Given the description of an element on the screen output the (x, y) to click on. 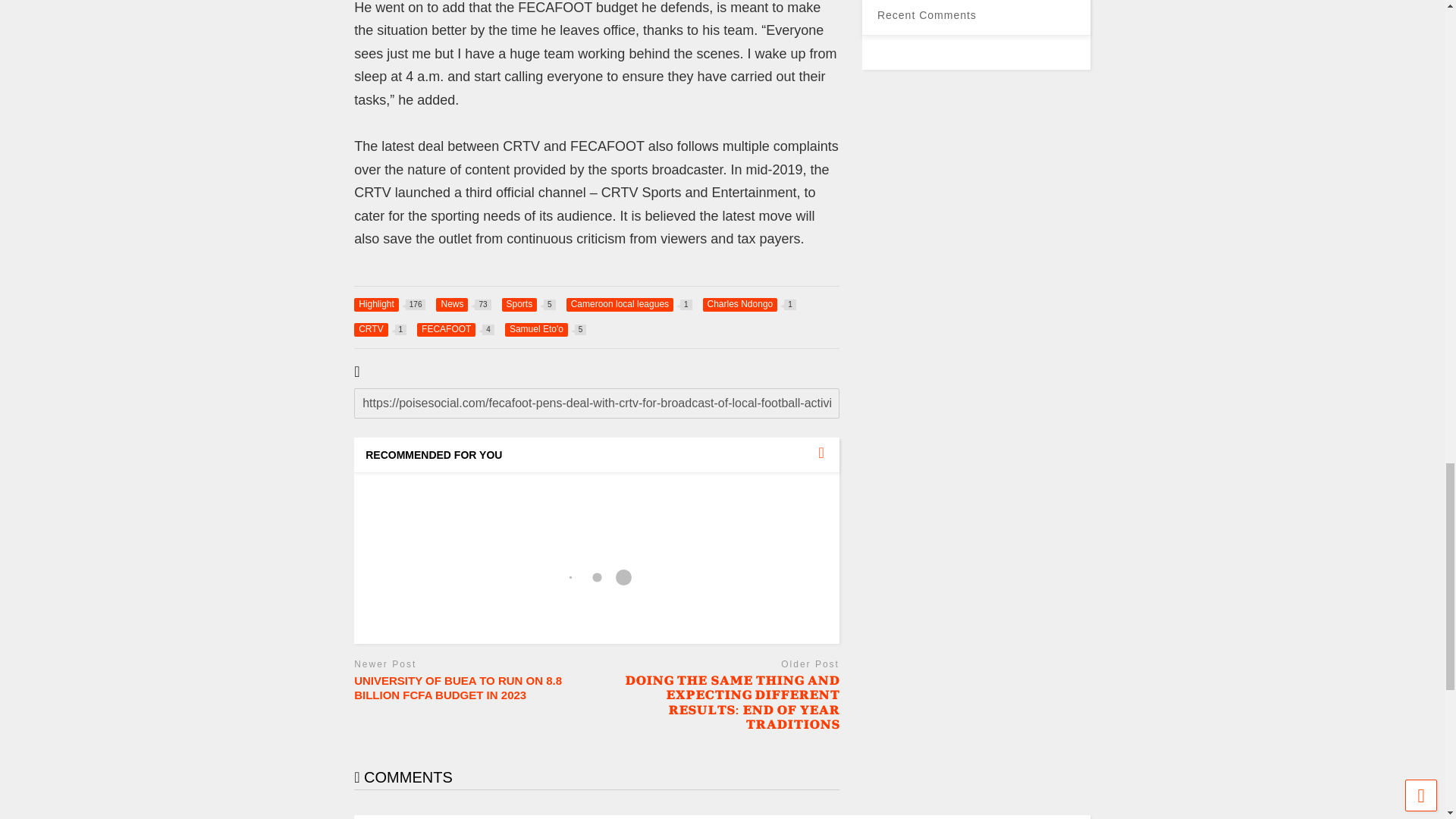
UNIVERSITY OF BUEA TO RUN ON 8.8 BILLION FCFA BUDGET IN 2023 (545, 329)
